Given the description of an element on the screen output the (x, y) to click on. 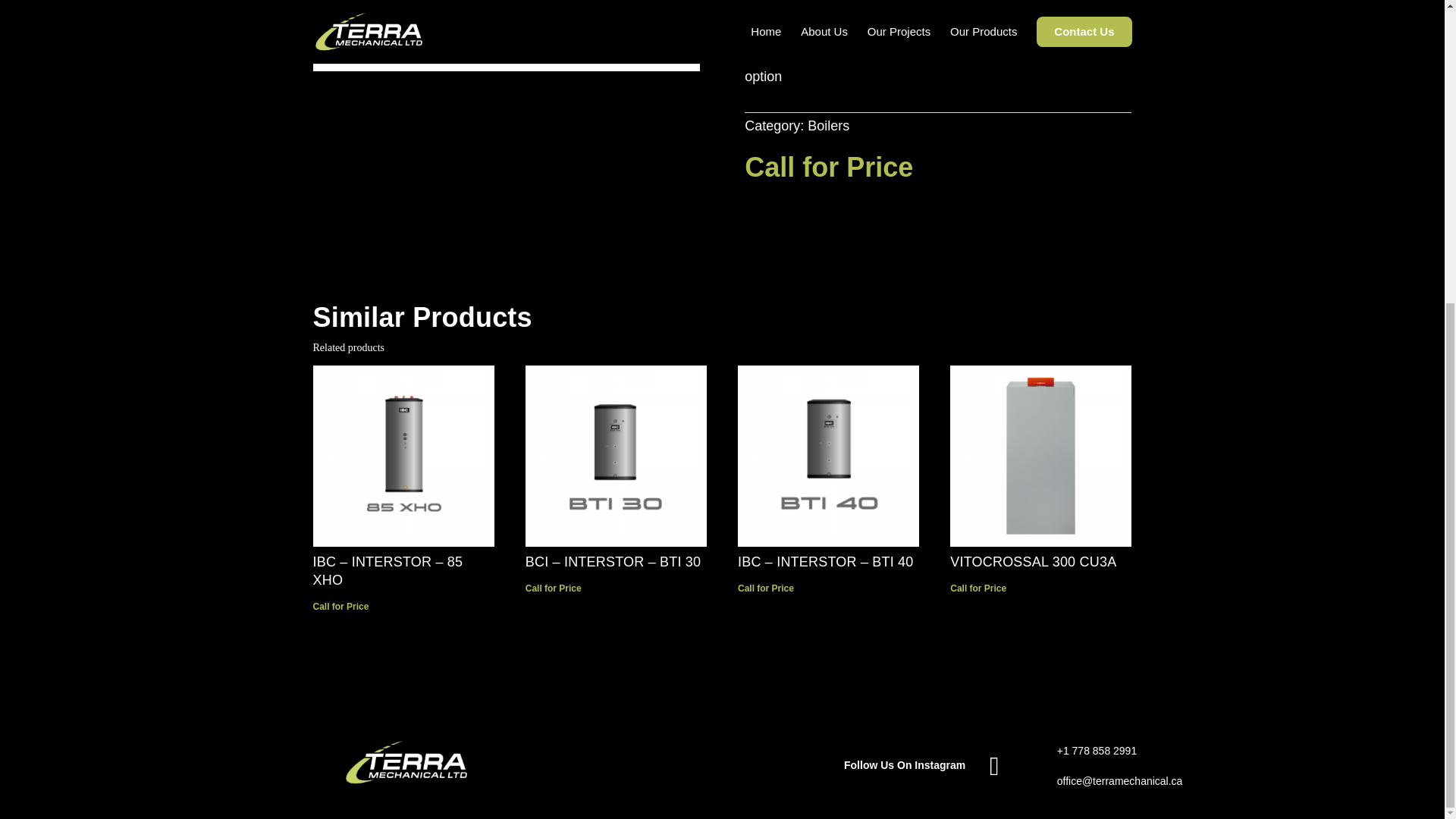
Follow on Instagram (994, 766)
Boilers (828, 125)
Terra logo (406, 762)
